Given the description of an element on the screen output the (x, y) to click on. 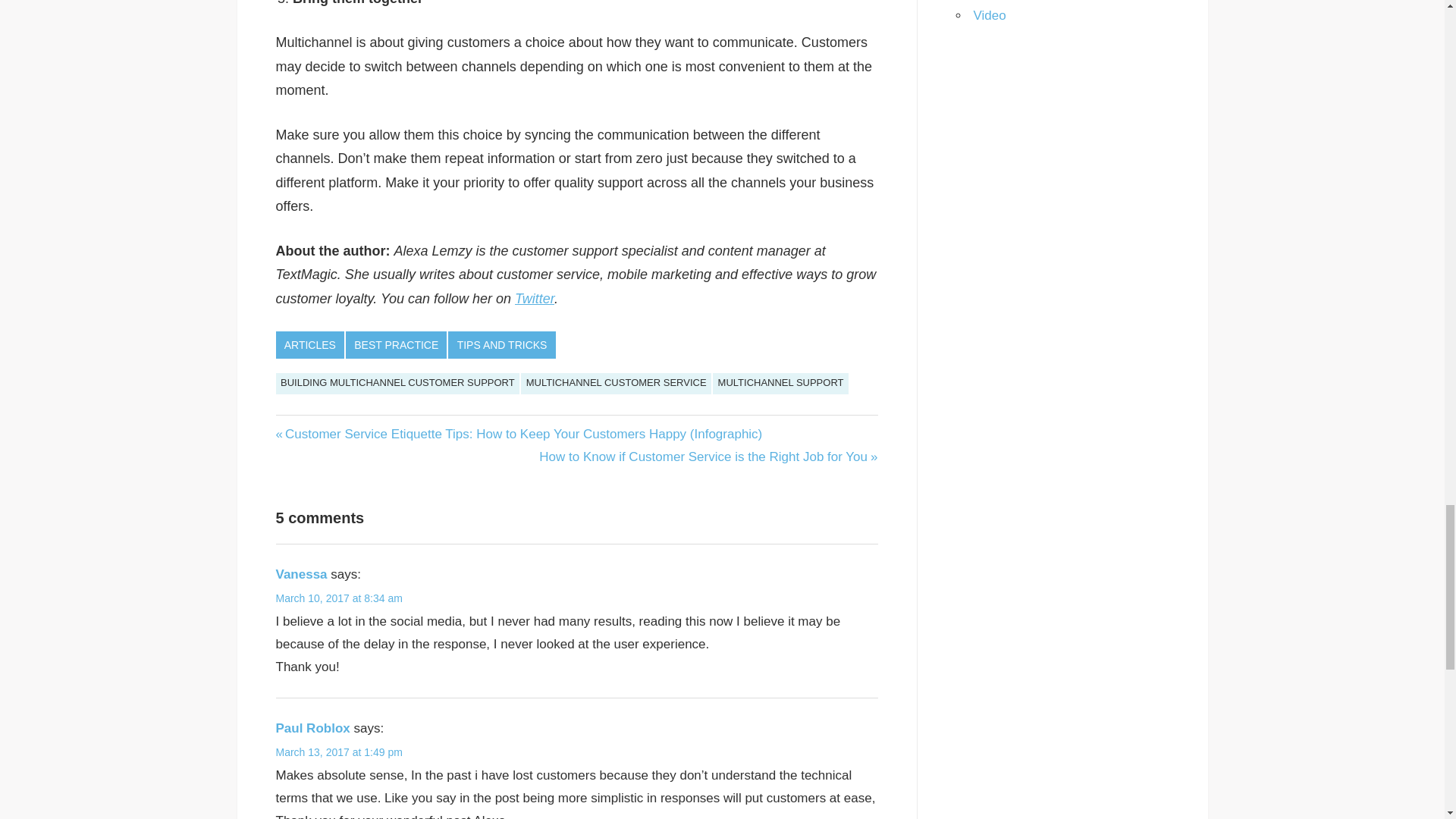
Twitter (534, 298)
Vanessa (301, 574)
MULTICHANNEL CUSTOMER SERVICE (616, 383)
BEST PRACTICE (396, 344)
March 13, 2017 at 1:49 pm (339, 752)
BUILDING MULTICHANNEL CUSTOMER SUPPORT (397, 383)
March 10, 2017 at 8:34 am (339, 598)
MULTICHANNEL SUPPORT (780, 383)
ARTICLES (310, 344)
